Given the description of an element on the screen output the (x, y) to click on. 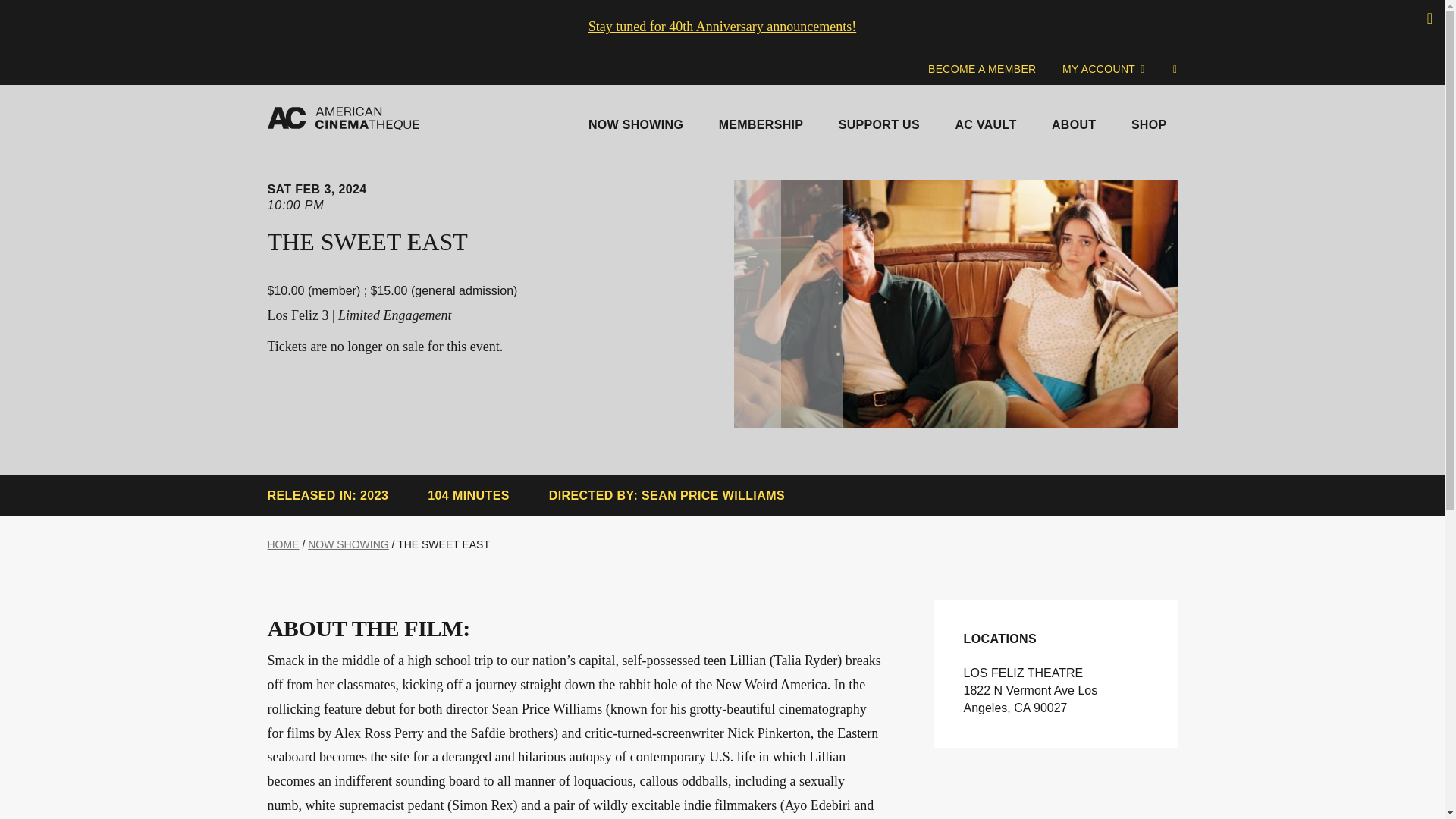
AC VAULT (984, 121)
MEMBERSHIP (760, 121)
NOW SHOWING (636, 121)
Stay tuned for 40th Anniversary announcements! (722, 26)
BECOME A MEMBER (982, 70)
Members Area Login (1103, 70)
MY ACCOUNT (1103, 70)
SUPPORT US (879, 121)
American Cinematheque (342, 118)
ABOUT (1073, 121)
